Given the description of an element on the screen output the (x, y) to click on. 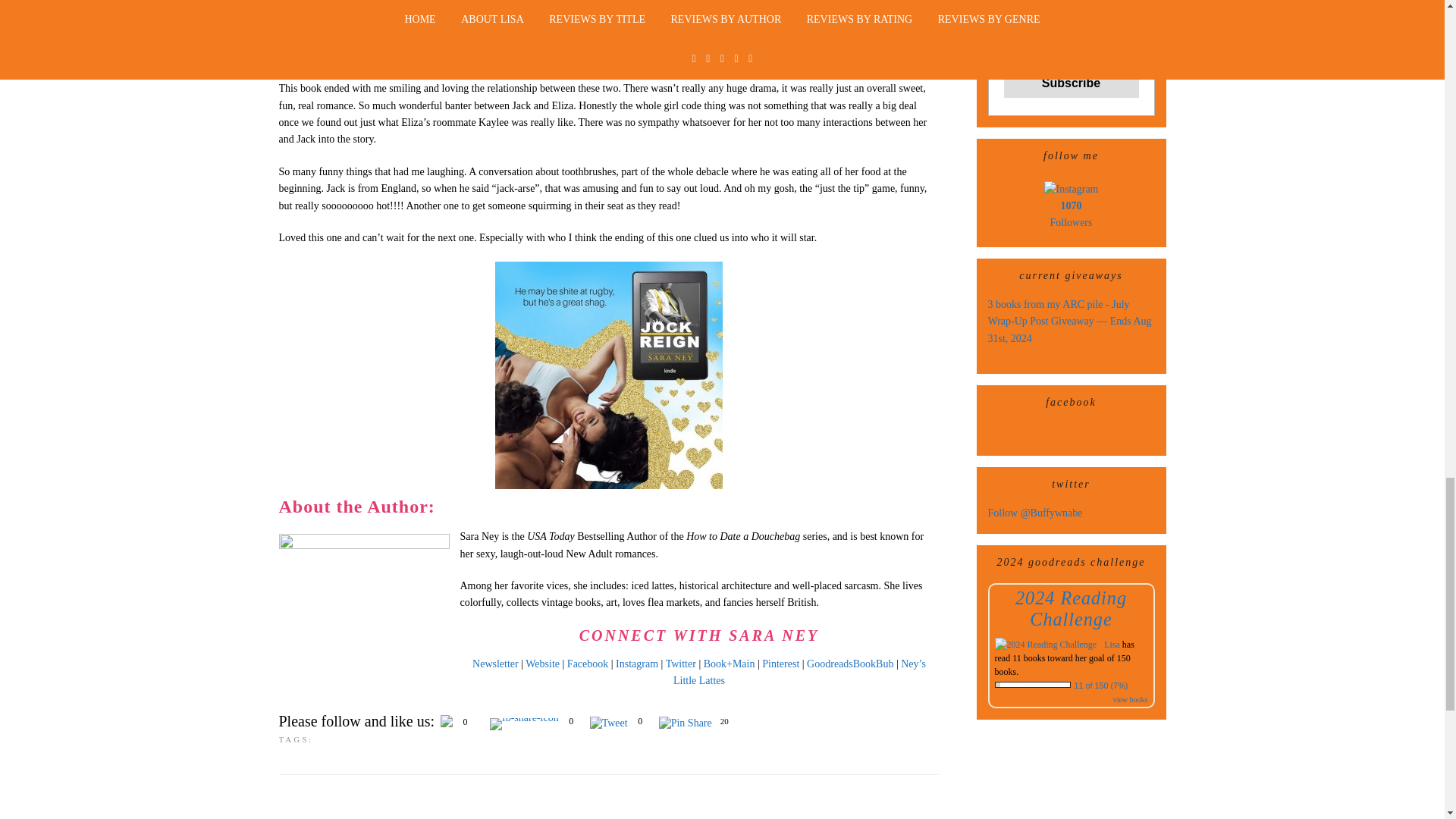
Facebook (587, 324)
Newsletter (494, 324)
Website (542, 324)
Post Comment (319, 759)
Tweet (608, 383)
Twitter (680, 324)
Pinterest (780, 324)
yes (283, 718)
Post Comment (319, 759)
GoodreadsBookBub (849, 324)
click here (395, 690)
Facebook Share (524, 384)
Instagram (636, 324)
Pin Share (685, 383)
